Given the description of an element on the screen output the (x, y) to click on. 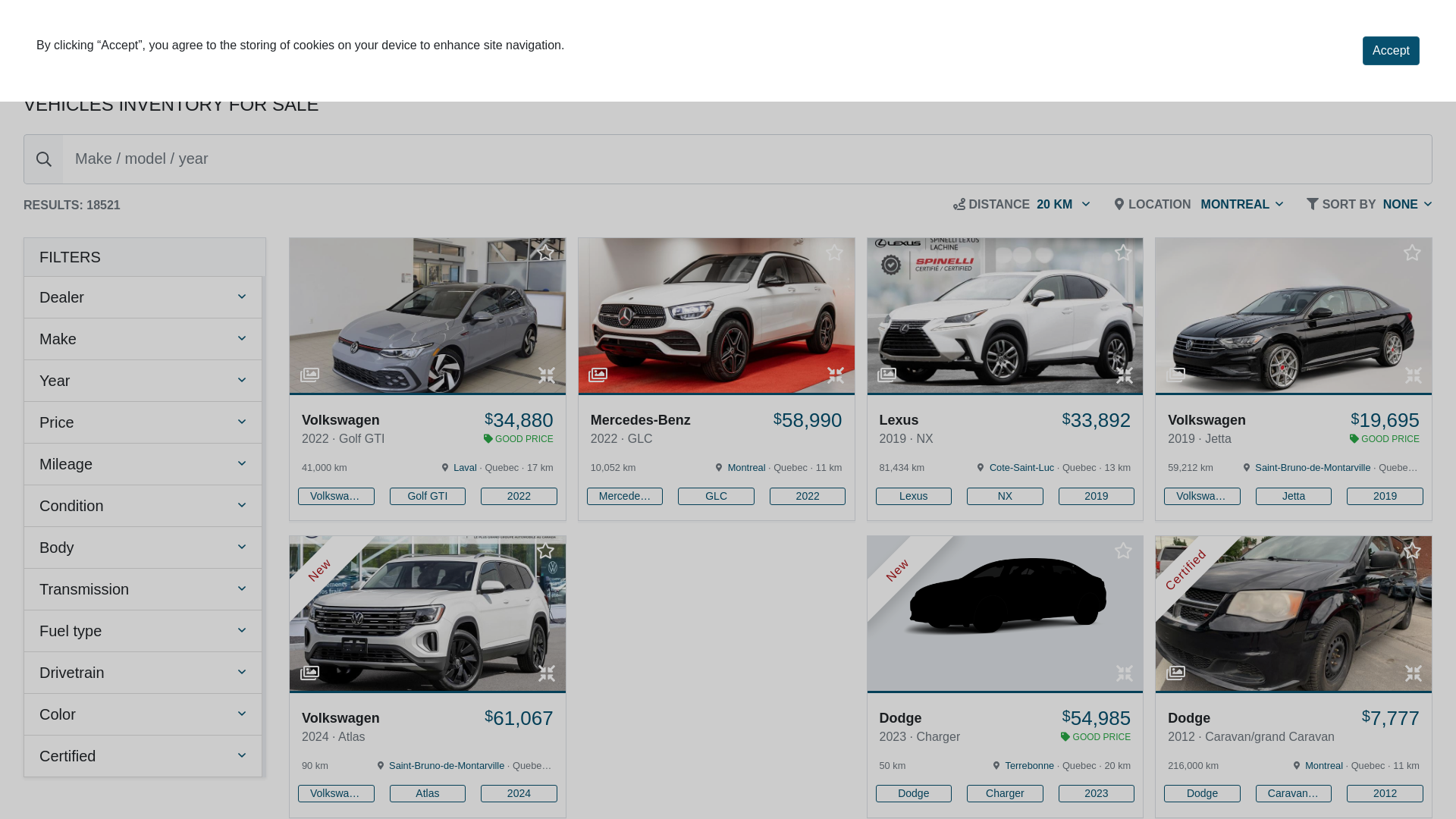
GLC Element type: text (715, 496)
NX Element type: text (1004, 496)
Volkswagen Element type: text (336, 793)
Mercedes-Benz Element type: text (624, 496)
2019 Element type: text (1096, 496)
2012 Element type: text (1384, 793)
Dodge Element type: text (1202, 793)
Saint-Bruno-de-Montarville Element type: text (1312, 467)
Terrebonne Element type: text (1029, 765)
Jetta Element type: text (1293, 496)
Atlas Element type: text (427, 793)
AutoExpert Element type: hover (100, 42)
Lexus Element type: text (913, 496)
Caravan/grand Caravan Element type: text (1293, 793)
2019 Element type: text (1384, 496)
Laval Element type: text (464, 467)
Montreal Element type: text (746, 467)
Volkswagen Element type: text (1202, 496)
Golf GTI Element type: text (427, 496)
2022 Element type: text (518, 496)
Accept Element type: text (1390, 50)
Saint-Bruno-de-Montarville Element type: text (446, 765)
Cote-Saint-Luc Element type: text (1021, 467)
Volkswagen Element type: text (336, 496)
2024 Element type: text (518, 793)
2023 Element type: text (1096, 793)
Charger Element type: text (1004, 793)
Dodge Element type: text (913, 793)
2022 Element type: text (807, 496)
Montreal Element type: text (1324, 765)
